Given the description of an element on the screen output the (x, y) to click on. 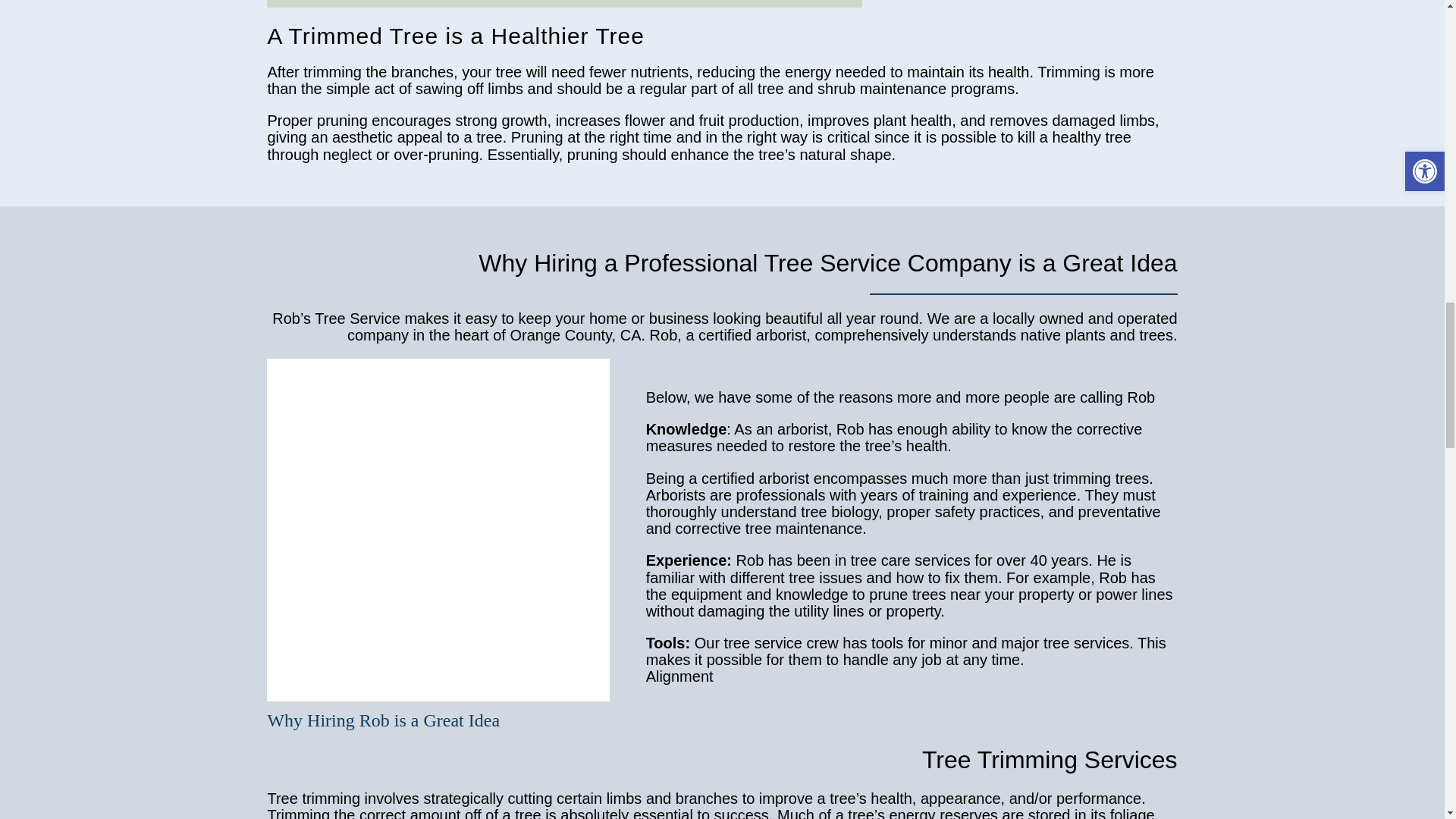
Fullerton 1 (437, 529)
